Given the description of an element on the screen output the (x, y) to click on. 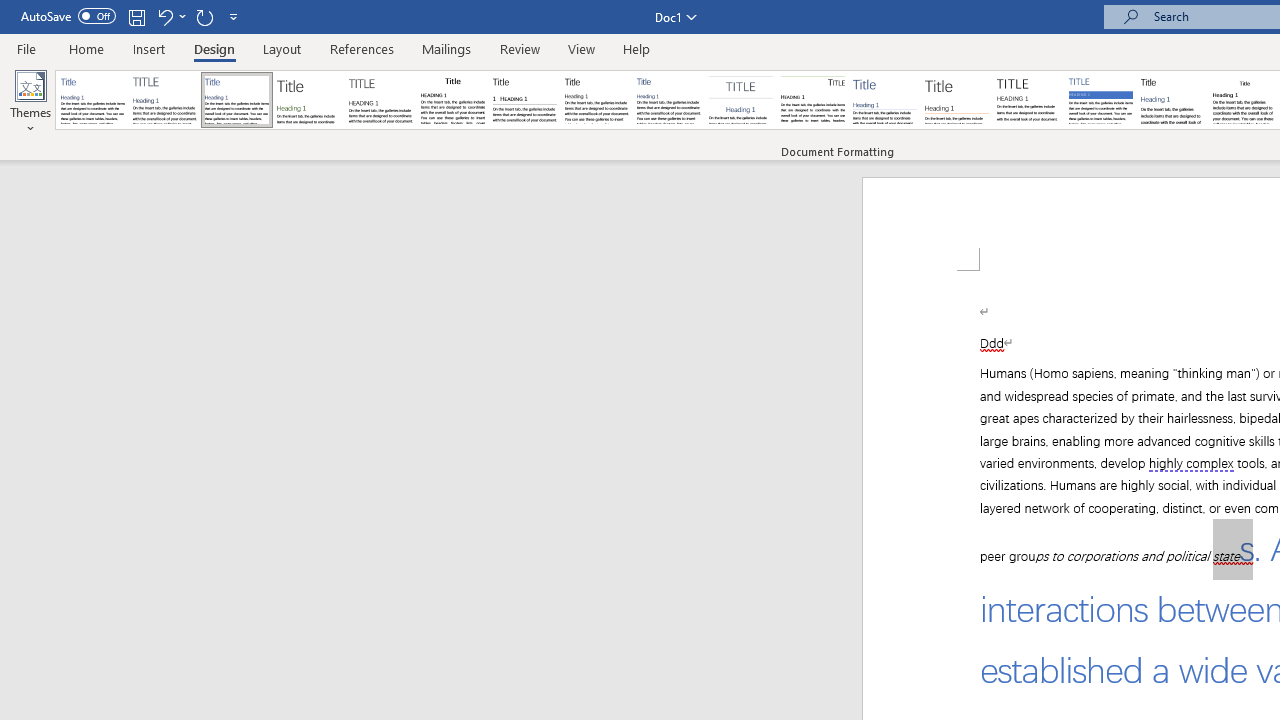
Basic (Simple) (236, 100)
Black & White (Capitalized) (381, 100)
Black & White (Classic) (452, 100)
Word (1172, 100)
Repeat Doc Close (204, 15)
Basic (Stylish) (308, 100)
Casual (669, 100)
Black & White (Numbered) (524, 100)
